Given the description of an element on the screen output the (x, y) to click on. 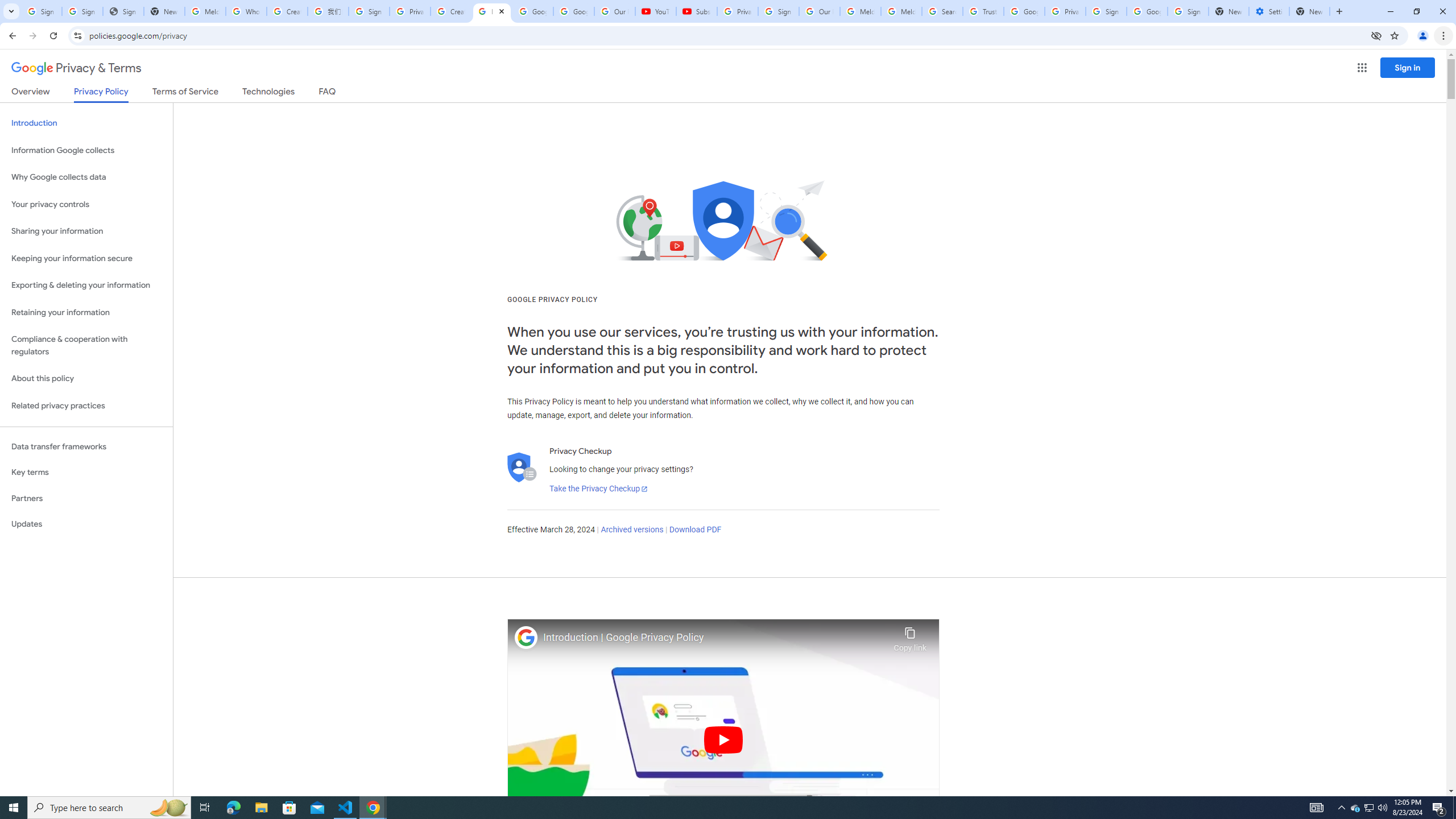
Sign in - Google Accounts (1105, 11)
Keeping your information secure (86, 258)
Sign in - Google Accounts (1187, 11)
Settings - Addresses and more (1268, 11)
Subscriptions - YouTube (696, 11)
Download PDF (695, 529)
Create your Google Account (450, 11)
